Given the description of an element on the screen output the (x, y) to click on. 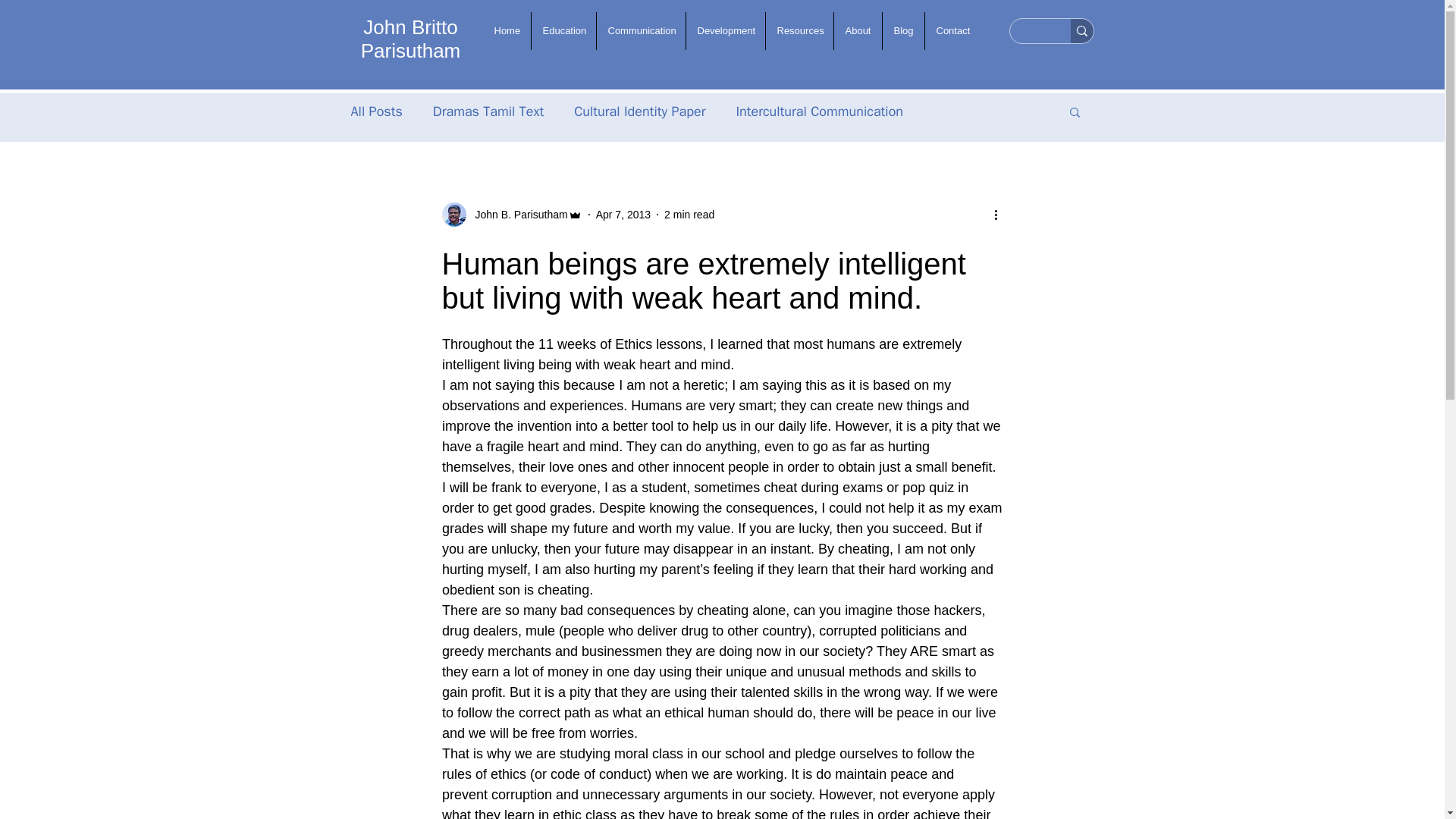
John B. Parisutham (516, 213)
Development (724, 30)
Cultural Identity Paper (638, 111)
All Posts (375, 111)
Apr 7, 2013 (622, 214)
Home (505, 30)
Education (563, 30)
Communication (639, 30)
Intercultural Communication (818, 111)
Contact (951, 30)
2 min read (688, 214)
Blog (903, 30)
Dramas Tamil Text (487, 111)
